Given the description of an element on the screen output the (x, y) to click on. 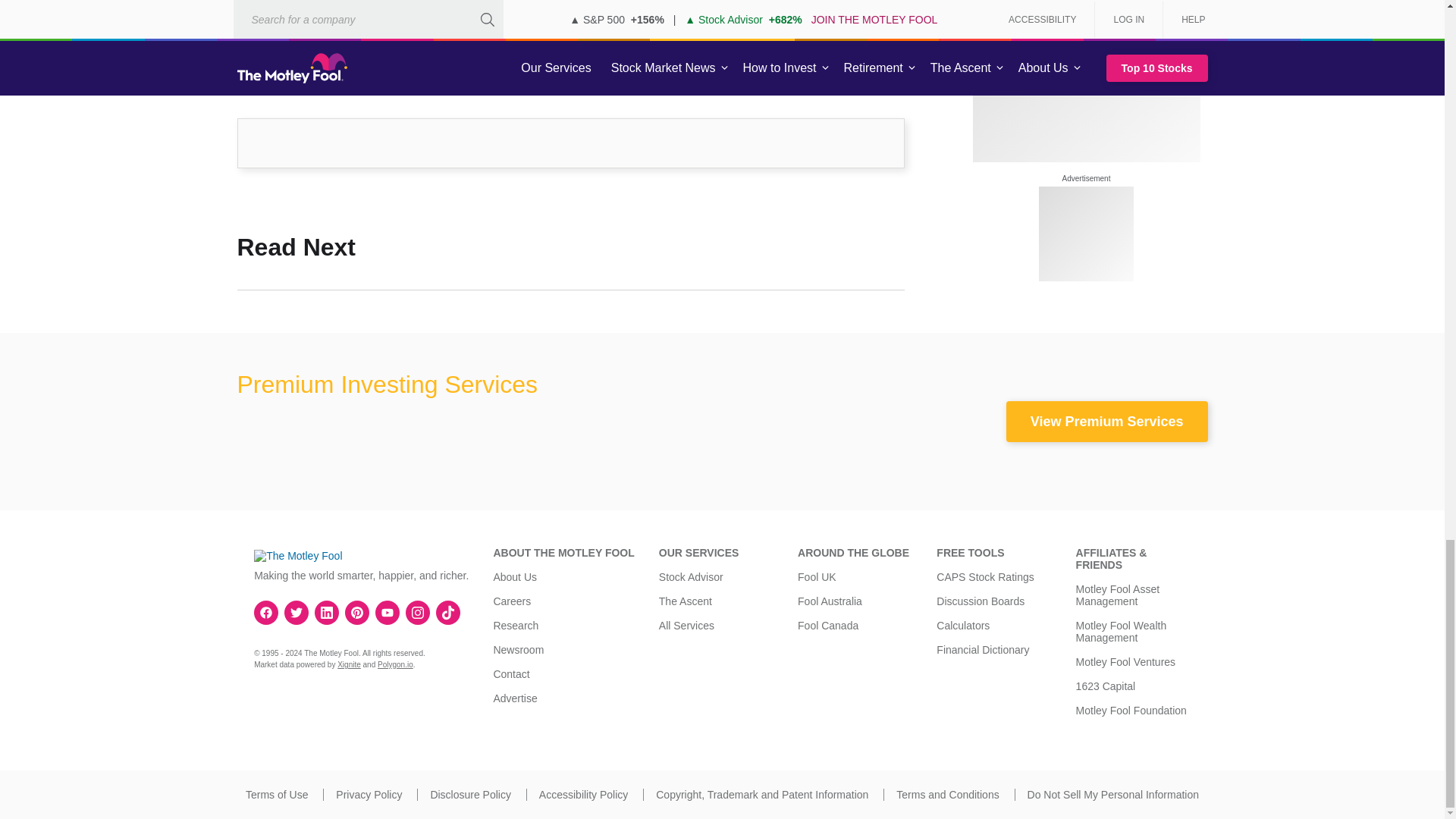
TikTok (448, 612)
Facebook (266, 612)
Do Not Sell My Personal Information. (1112, 794)
Copyright, Trademark and Patent Information (761, 794)
Terms and Conditions (947, 794)
Disclosure Policy (470, 794)
Pinterest (356, 612)
Privacy Policy (368, 794)
Accessibility Policy (582, 794)
LinkedIn (326, 612)
Terms of Use (276, 794)
Twitter (295, 612)
YouTube (387, 612)
Instagram (417, 612)
